Given the description of an element on the screen output the (x, y) to click on. 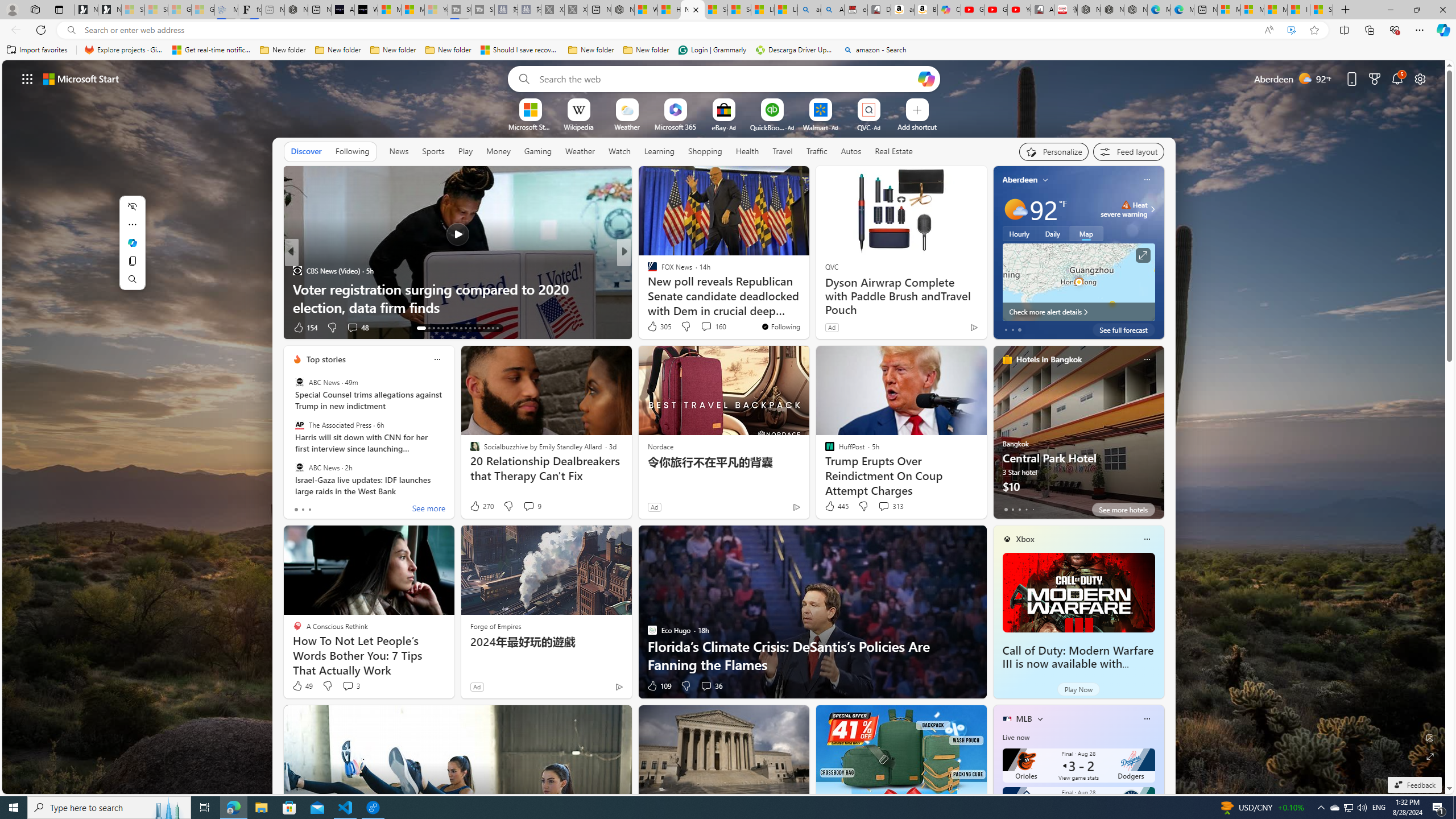
AutomationID: tab-22 (465, 328)
305 Like (658, 326)
View comments 313 Comment (890, 505)
The Best Rowing Workout for Weight Loss (807, 307)
Personalize your feed" (1054, 151)
How To Stop Caring About What People Think Of You (807, 298)
